Given the description of an element on the screen output the (x, y) to click on. 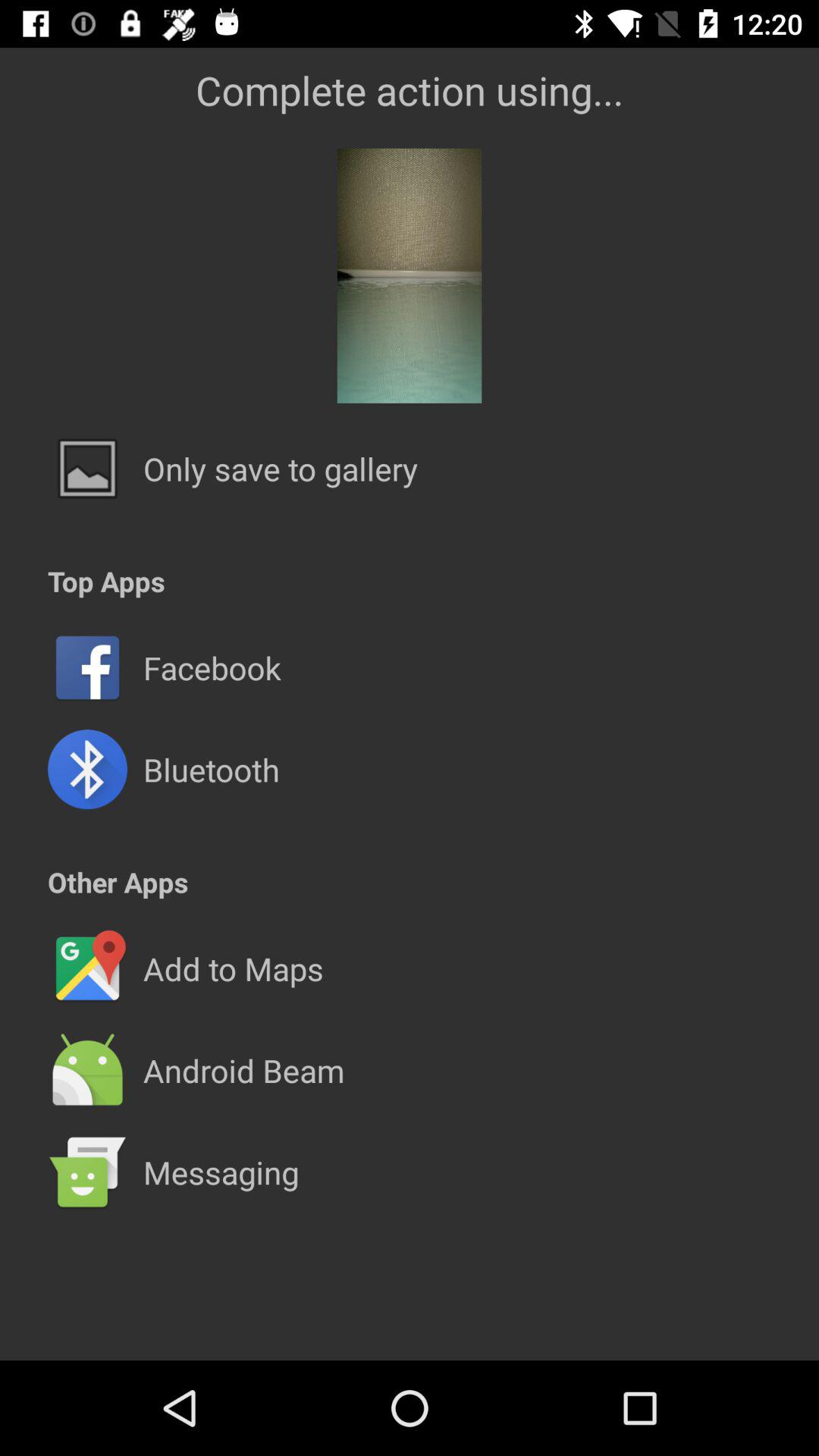
choose icon below the top apps (409, 616)
